Given the description of an element on the screen output the (x, y) to click on. 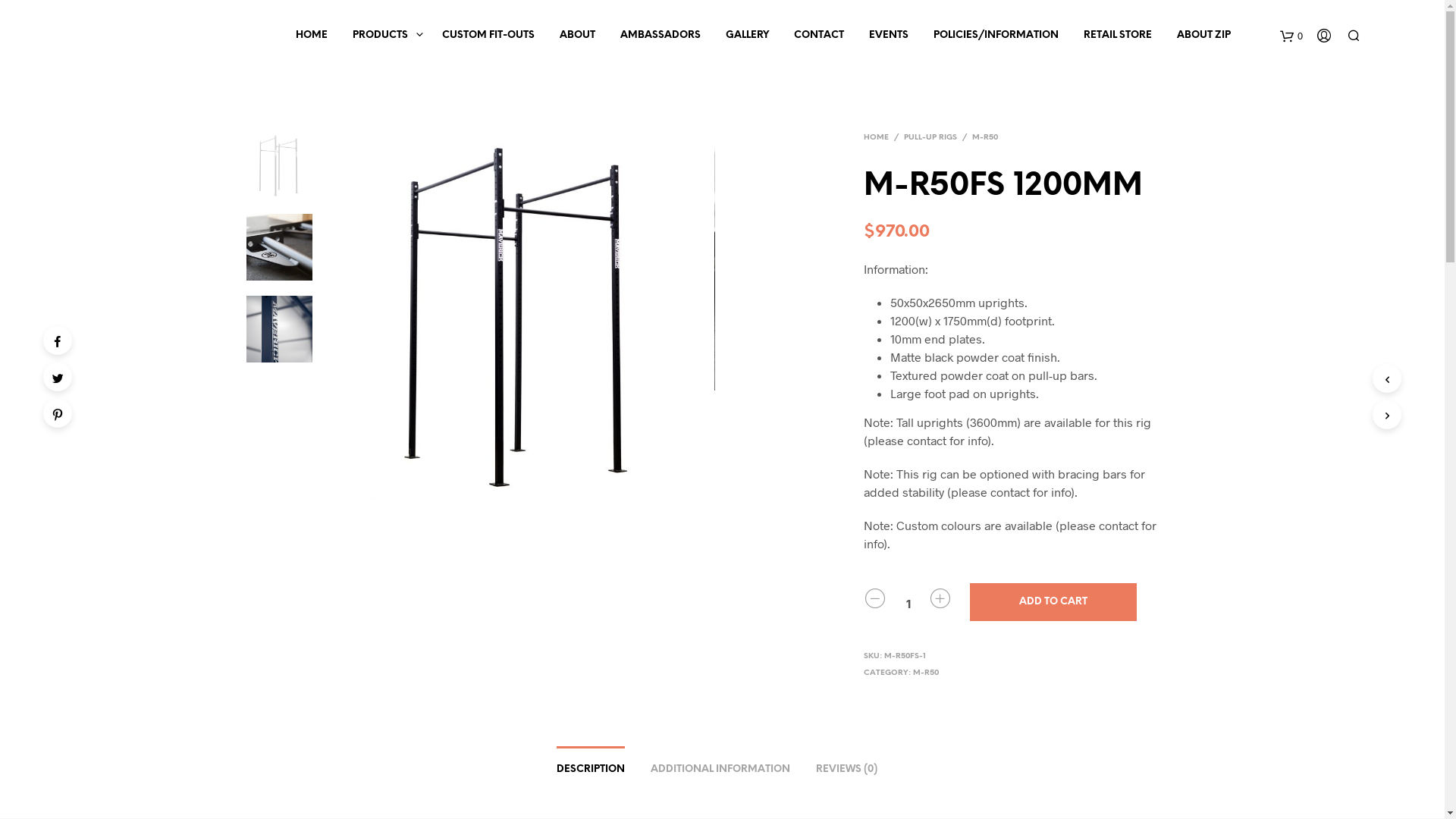
PRODUCTS Element type: text (380, 34)
EVENTS Element type: text (888, 34)
HOME Element type: text (878, 137)
RETAIL STORE Element type: text (1117, 34)
POLICIES/INFORMATION Element type: text (996, 34)
REVIEWS (0) Element type: text (846, 764)
M50FS - SingleCell Element type: hover (520, 317)
manufacturer of functional fitness equipment Element type: hover (170, 34)
GALLERY Element type: text (747, 34)
DESCRIPTION Element type: text (590, 764)
PULL-UP RIGS Element type: text (930, 137)
M-R50 Element type: text (925, 672)
CUSTOM FIT-OUTS Element type: text (488, 34)
AMBASSADORS Element type: text (660, 34)
ADDITIONAL INFORMATION Element type: text (720, 764)
ADD TO CART Element type: text (1052, 602)
ABOUT ZIP Element type: text (1203, 34)
0 Element type: text (1291, 34)
Qty Element type: hover (908, 603)
ABOUT Element type: text (577, 34)
HOME Element type: text (311, 34)
M-R50 Element type: text (984, 137)
IMG_2628 Element type: hover (907, 261)
CONTACT Element type: text (818, 34)
